Given the description of an element on the screen output the (x, y) to click on. 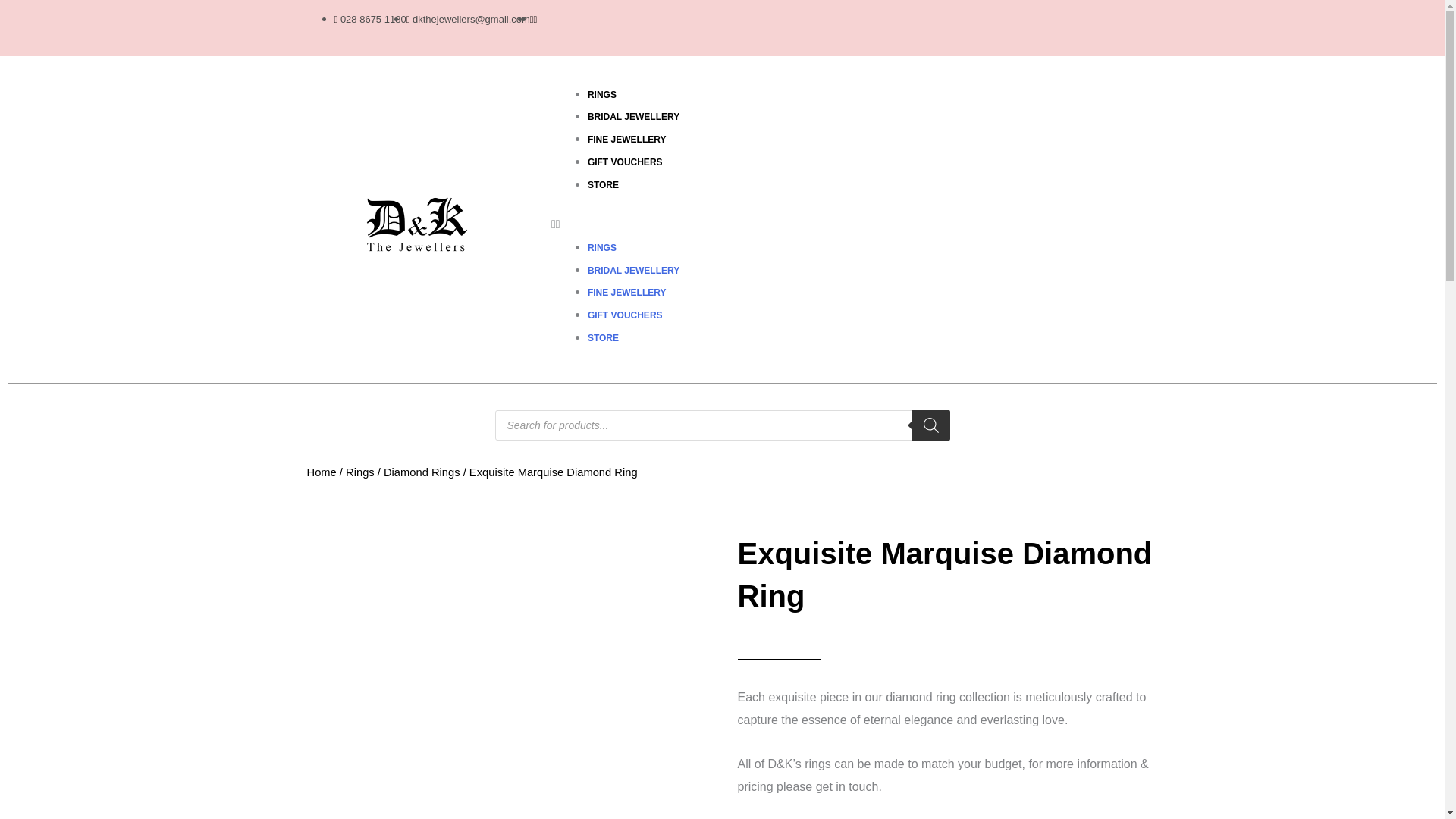
BRIDAL JEWELLERY (633, 270)
RINGS (601, 247)
Diamond Rings (422, 472)
Home (320, 472)
Rings (360, 472)
GIFT VOUCHERS (625, 162)
028 8675 1180 (369, 19)
BRIDAL JEWELLERY (633, 116)
FINE JEWELLERY (627, 292)
GIFT VOUCHERS (625, 315)
